Given the description of an element on the screen output the (x, y) to click on. 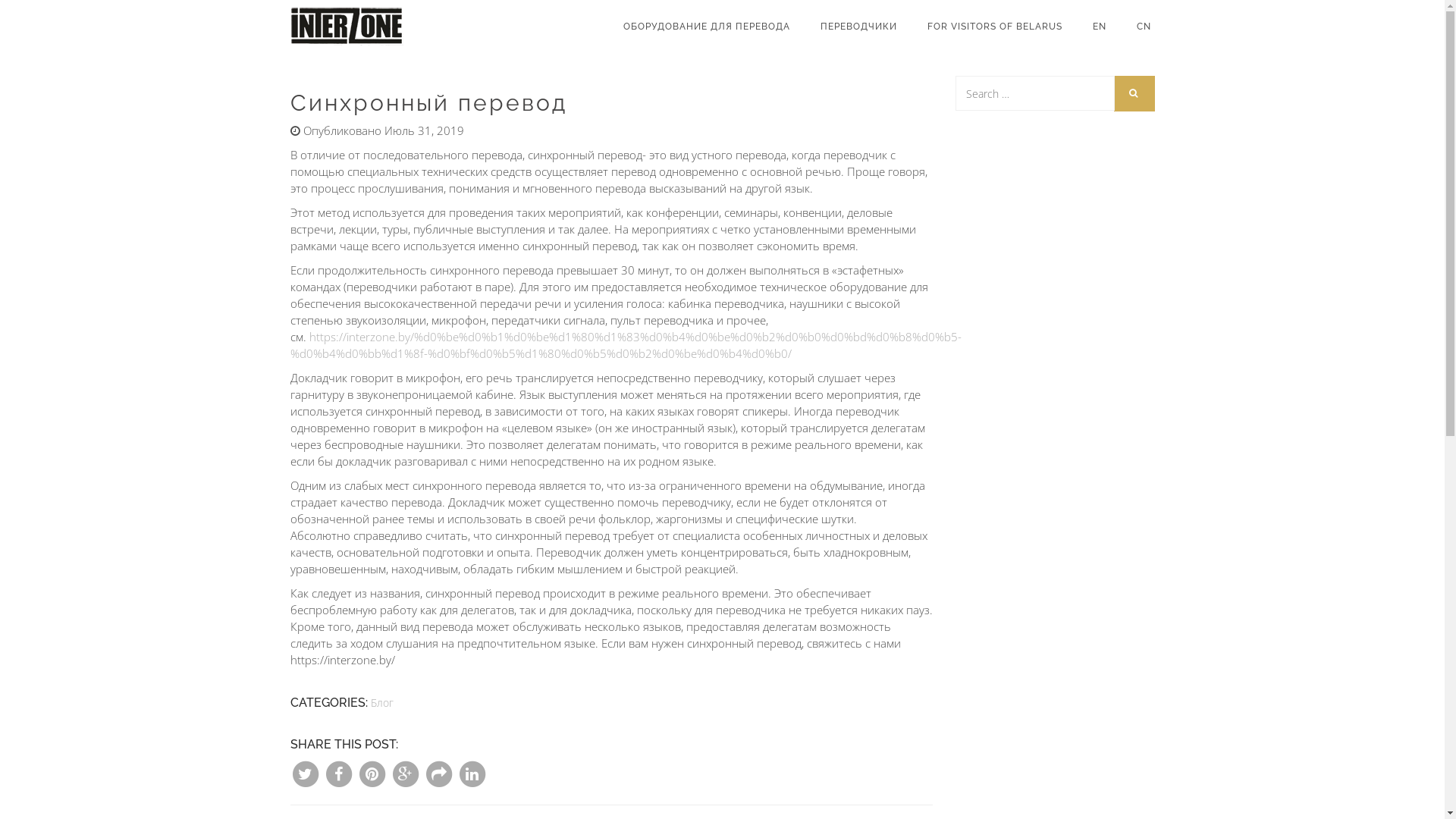
CN Element type: text (1142, 26)
FOR VISITORS OF BELARUS Element type: text (993, 26)
EN Element type: text (1098, 26)
